Given the description of an element on the screen output the (x, y) to click on. 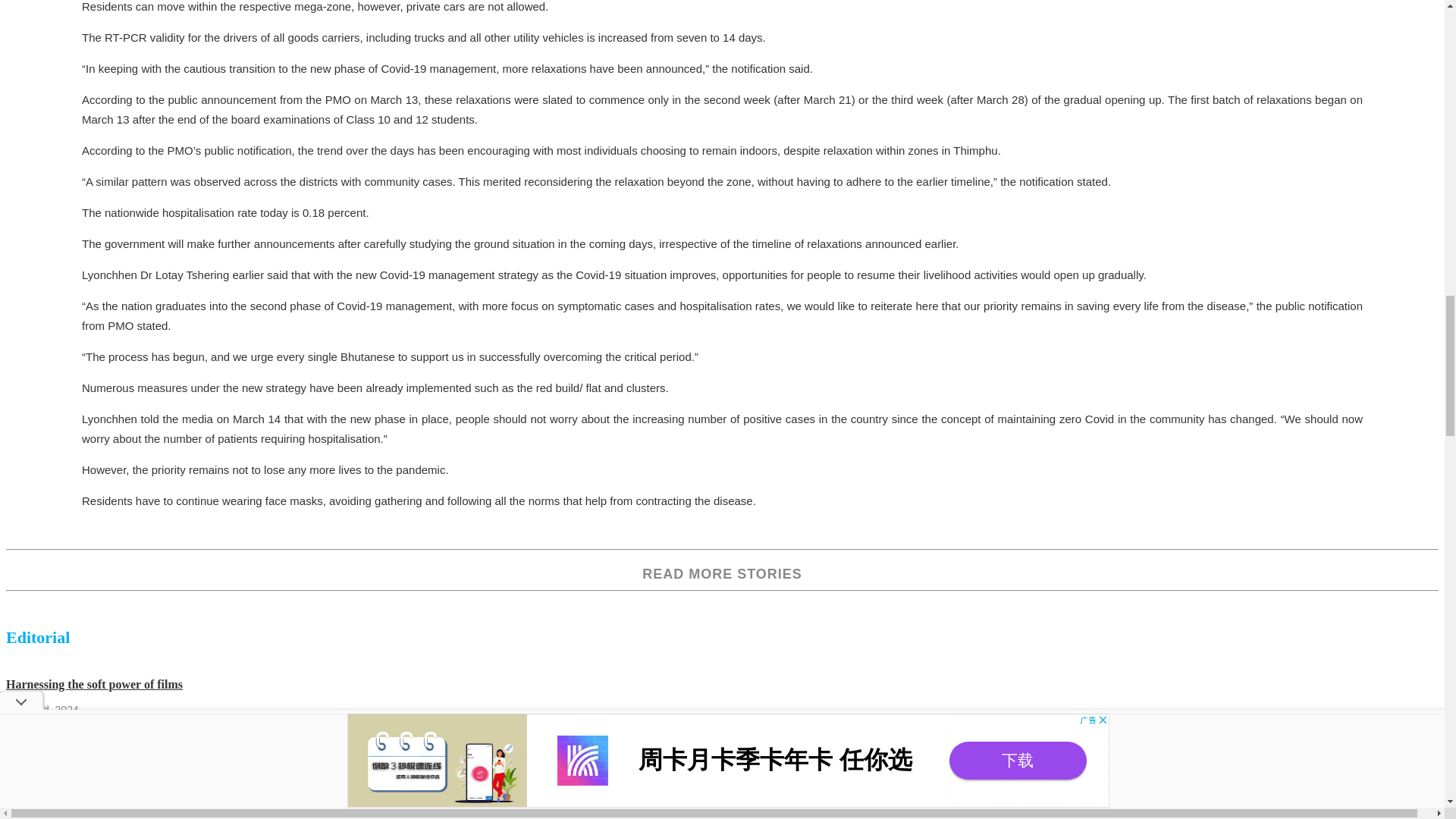
A national imperative (61, 809)
Harnessing the soft power of films (94, 684)
